Given the description of an element on the screen output the (x, y) to click on. 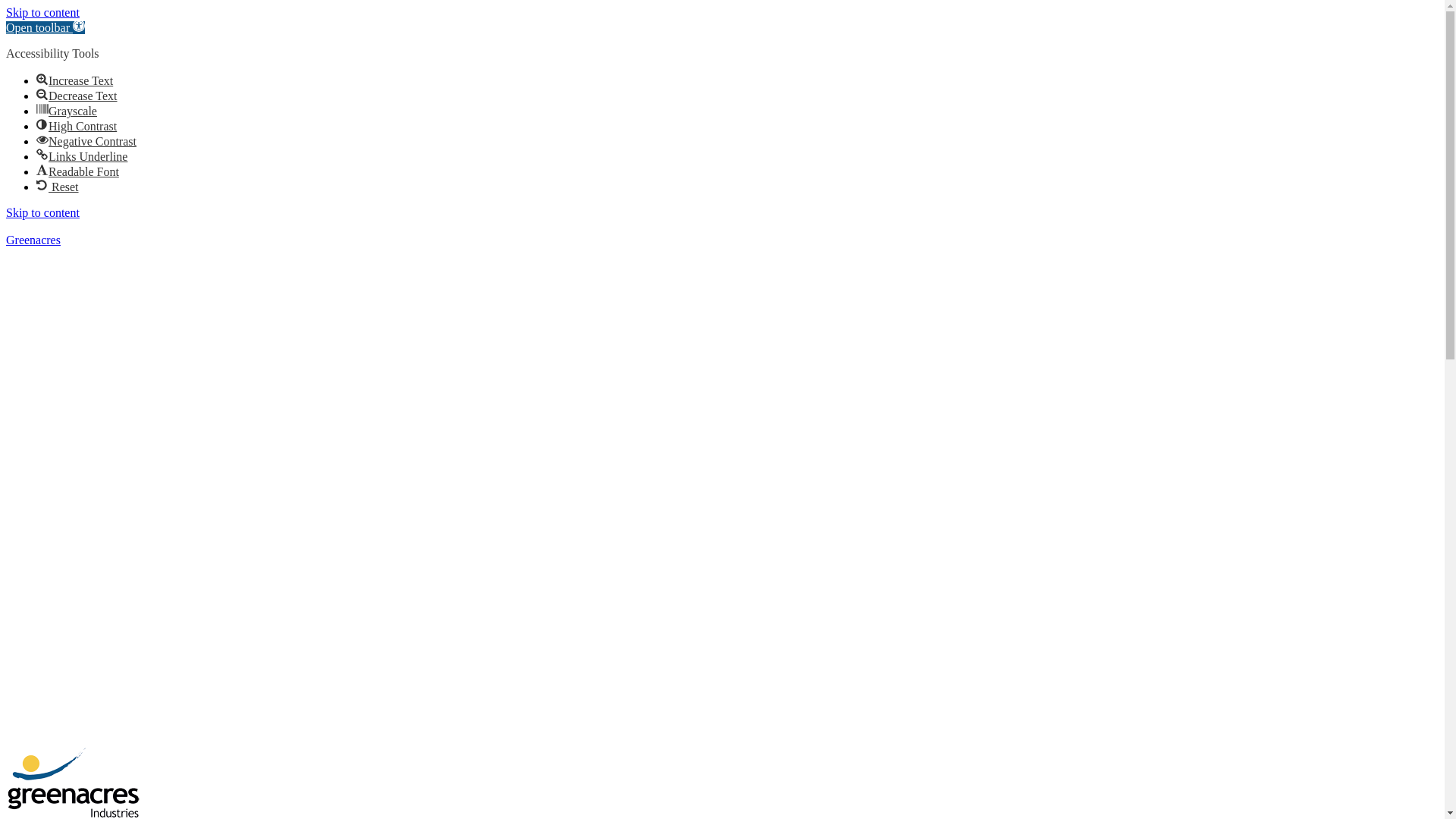
High ContrastHigh Contrast Element type: text (76, 125)
Links UnderlineLinks Underline Element type: text (81, 156)
Skip to content Element type: text (42, 12)
sales@greenacresindustries.com.au Element type: text (162, 225)
Readable FontReadable Font Element type: text (77, 171)
Increase TextIncrease Text Element type: text (74, 80)
Greenacres Element type: text (33, 239)
Open toolbar Accessibility Tools Element type: text (45, 27)
Decrease TextDecrease Text Element type: text (76, 95)
Reset Reset Element type: text (57, 186)
GrayscaleGrayscale Element type: text (66, 110)
Skip to content Element type: text (42, 212)
Negative ContrastNegative Contrast Element type: text (86, 140)
